Given the description of an element on the screen output the (x, y) to click on. 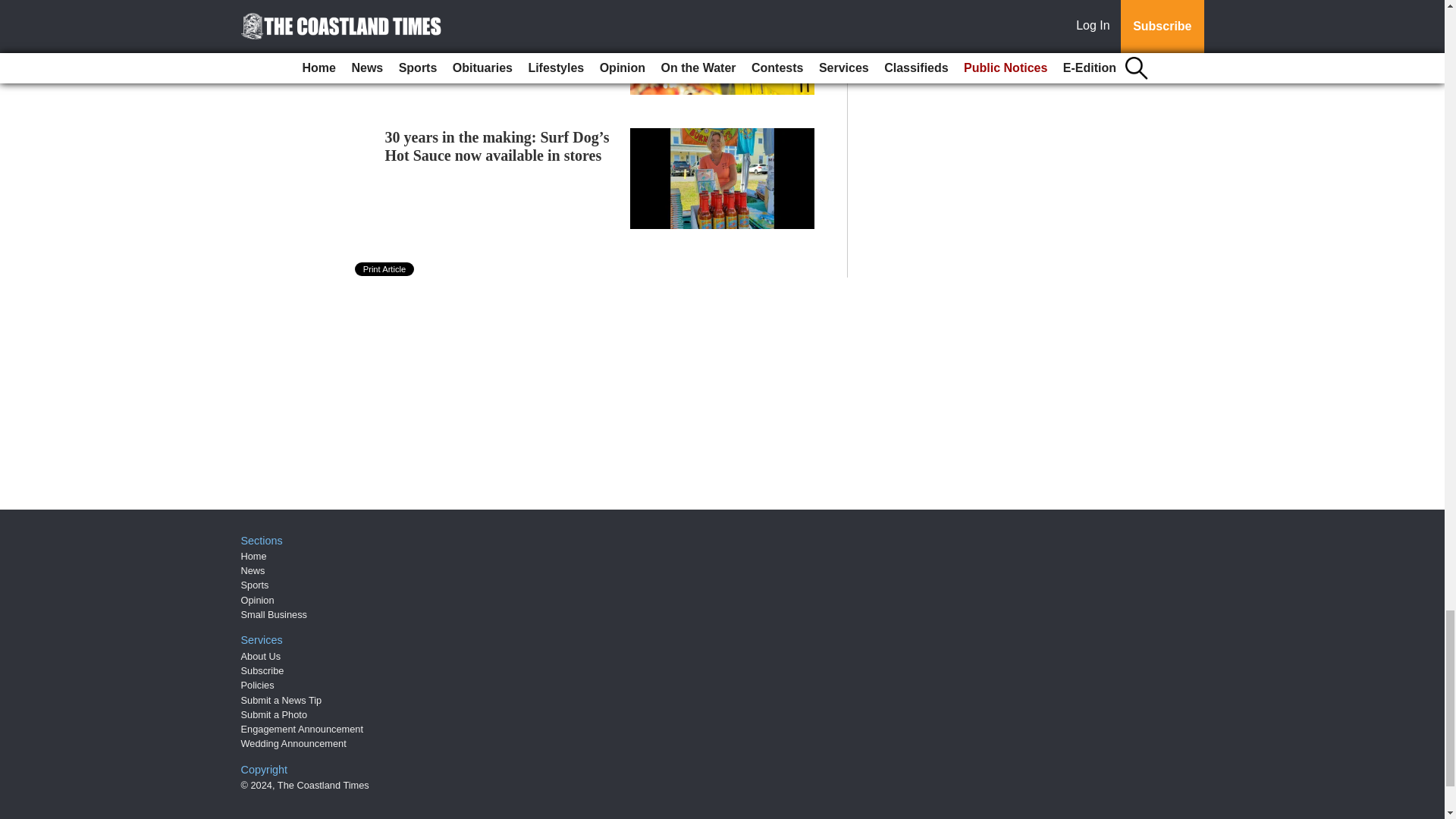
Dollar General adds produce to Manteo location (487, 14)
Dollar General adds produce to Manteo location (487, 14)
